Given the description of an element on the screen output the (x, y) to click on. 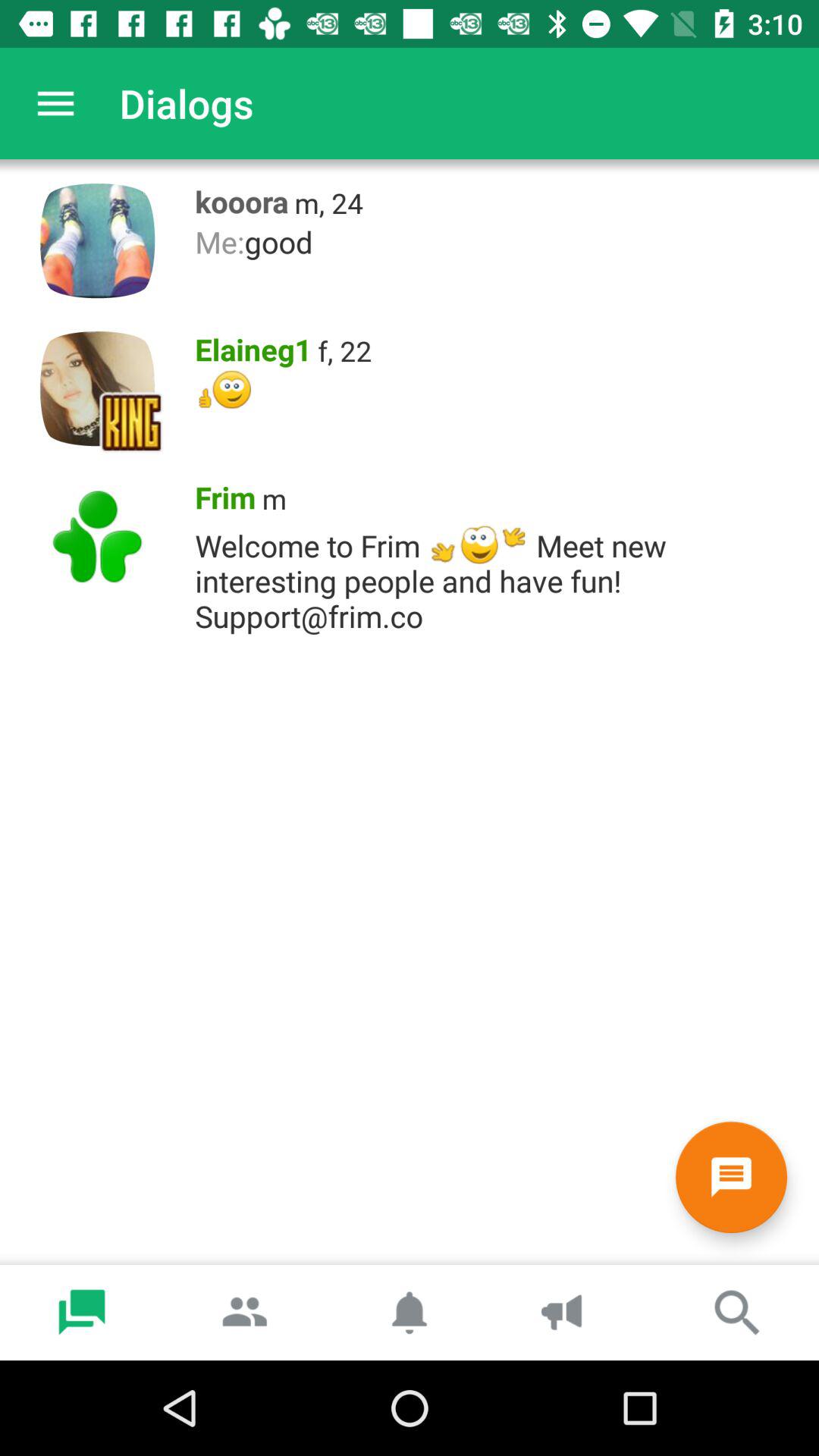
turn on the icon below frim item (499, 576)
